Given the description of an element on the screen output the (x, y) to click on. 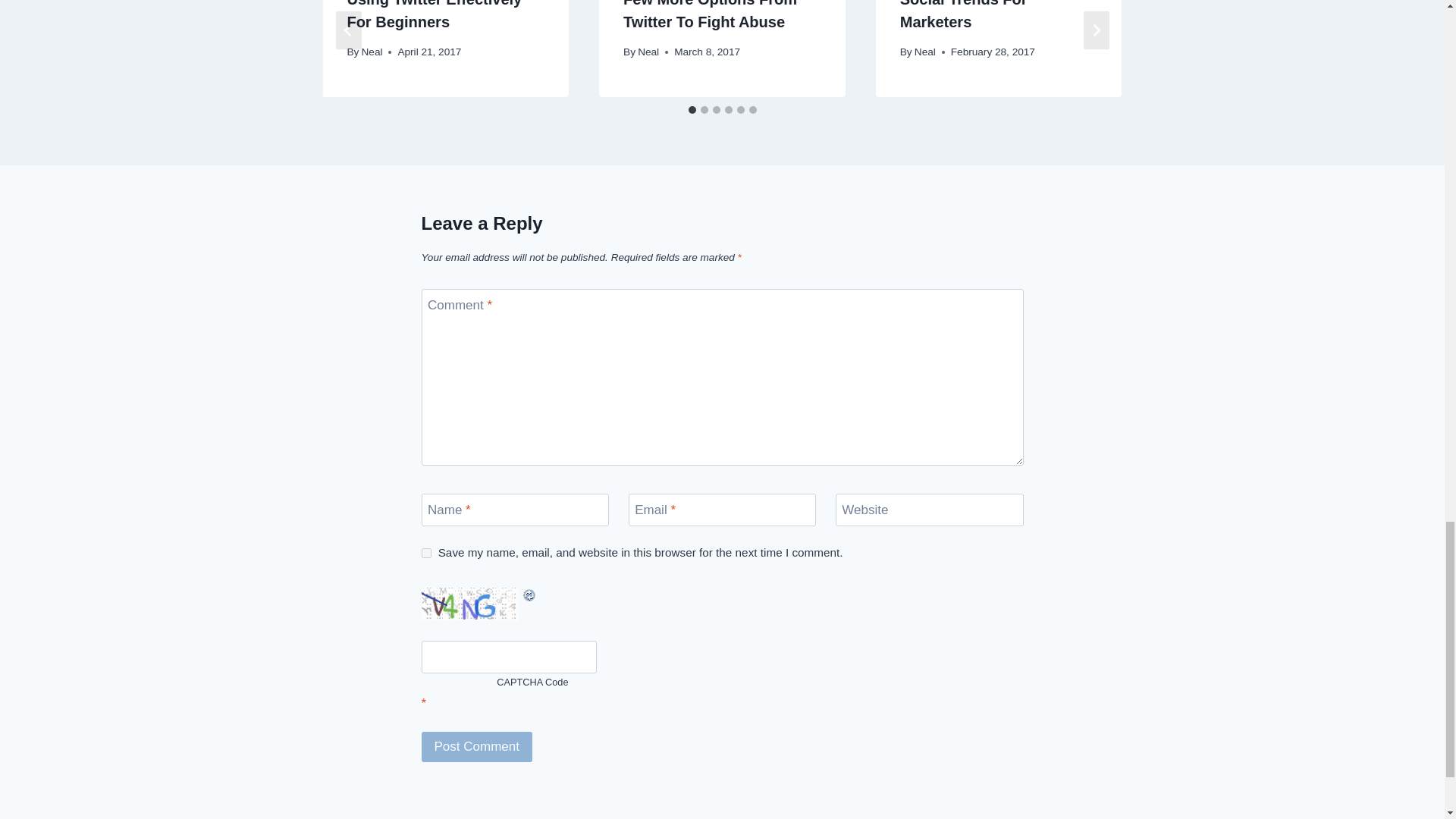
Post Comment (477, 747)
Using Twitter Effectively For Beginners (433, 15)
yes (426, 552)
CAPTCHA (471, 603)
Refresh (488, 595)
